Given the description of an element on the screen output the (x, y) to click on. 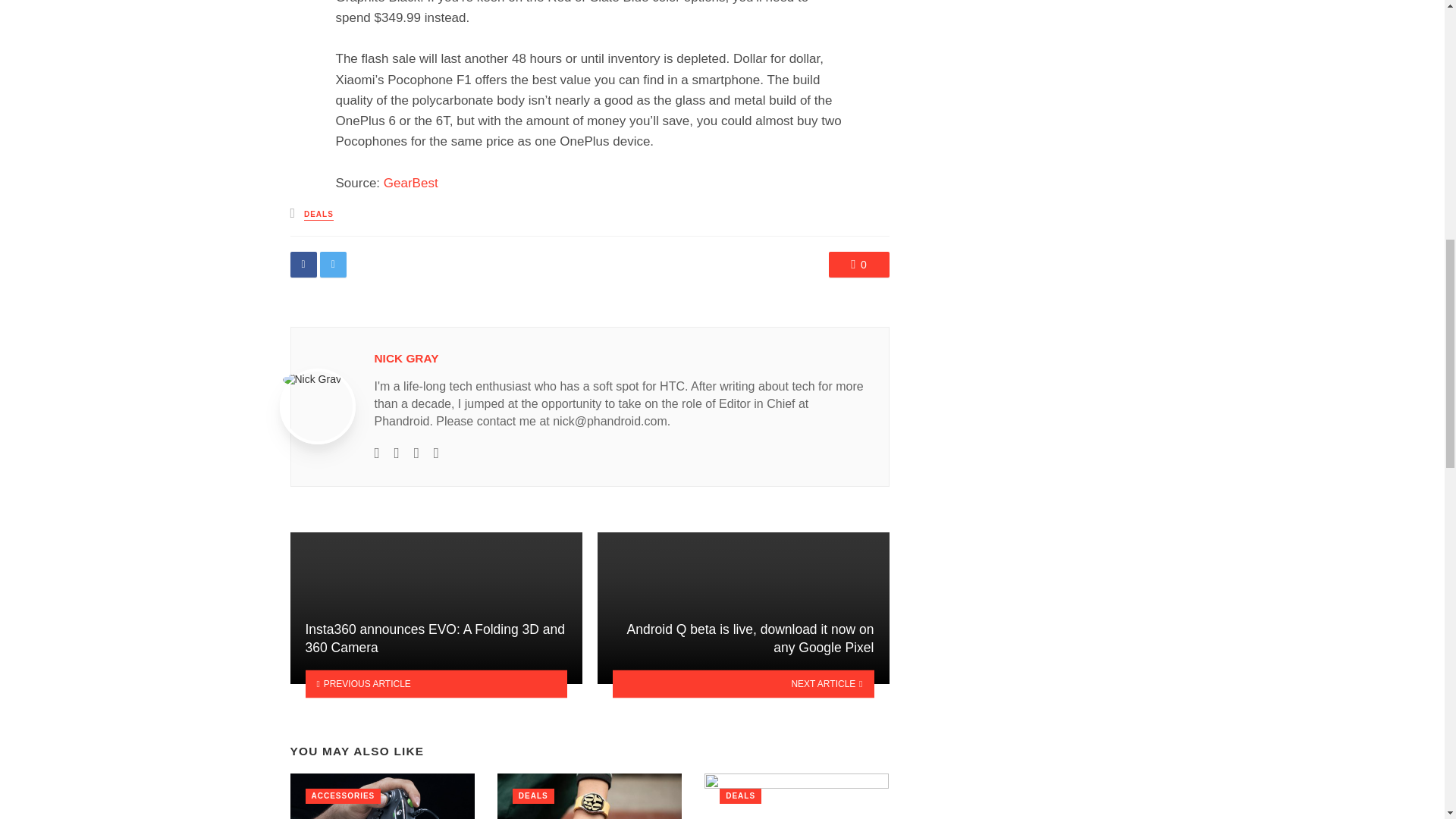
GearBest (411, 183)
0 (858, 264)
NICK GRAY (406, 358)
DEALS (318, 214)
Posts by Nick Gray (406, 358)
Share on Twitter (333, 264)
0 Comments (858, 264)
Share on Facebook (302, 264)
